Given the description of an element on the screen output the (x, y) to click on. 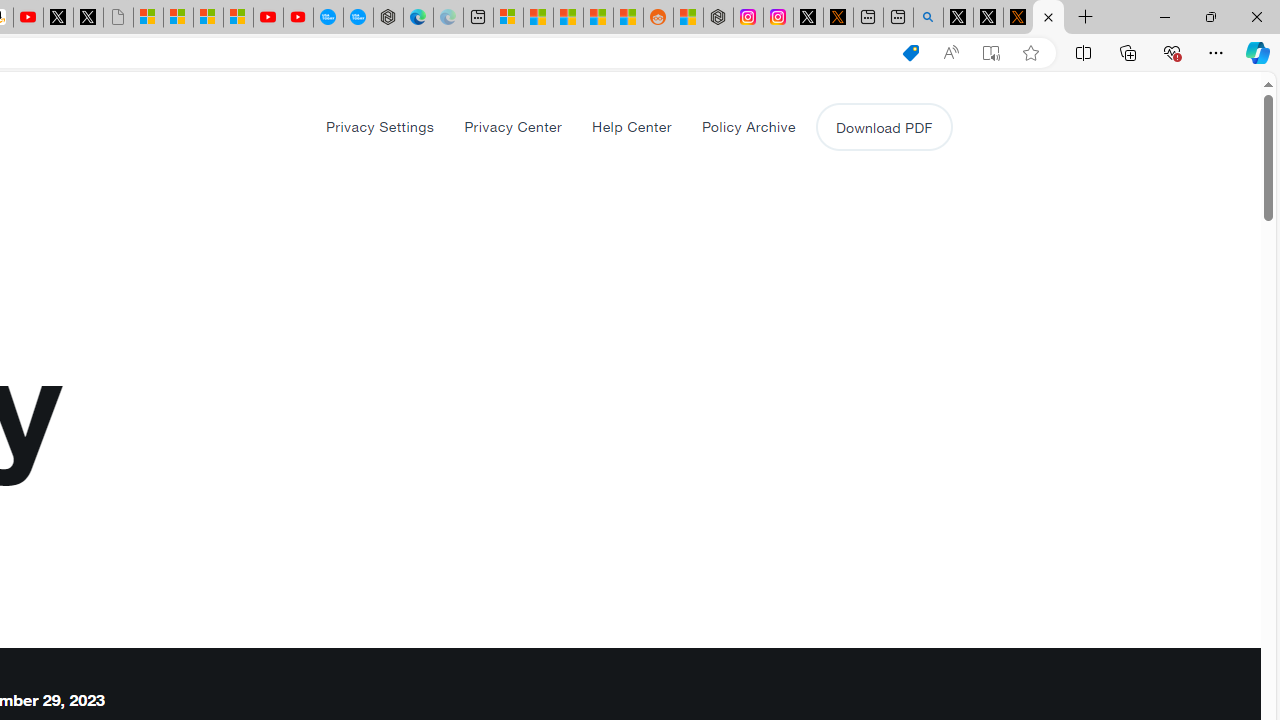
Enter Immersive Reader (F9) (991, 53)
Close (1256, 16)
Close tab (1048, 16)
Privacy Center (512, 126)
